Given the description of an element on the screen output the (x, y) to click on. 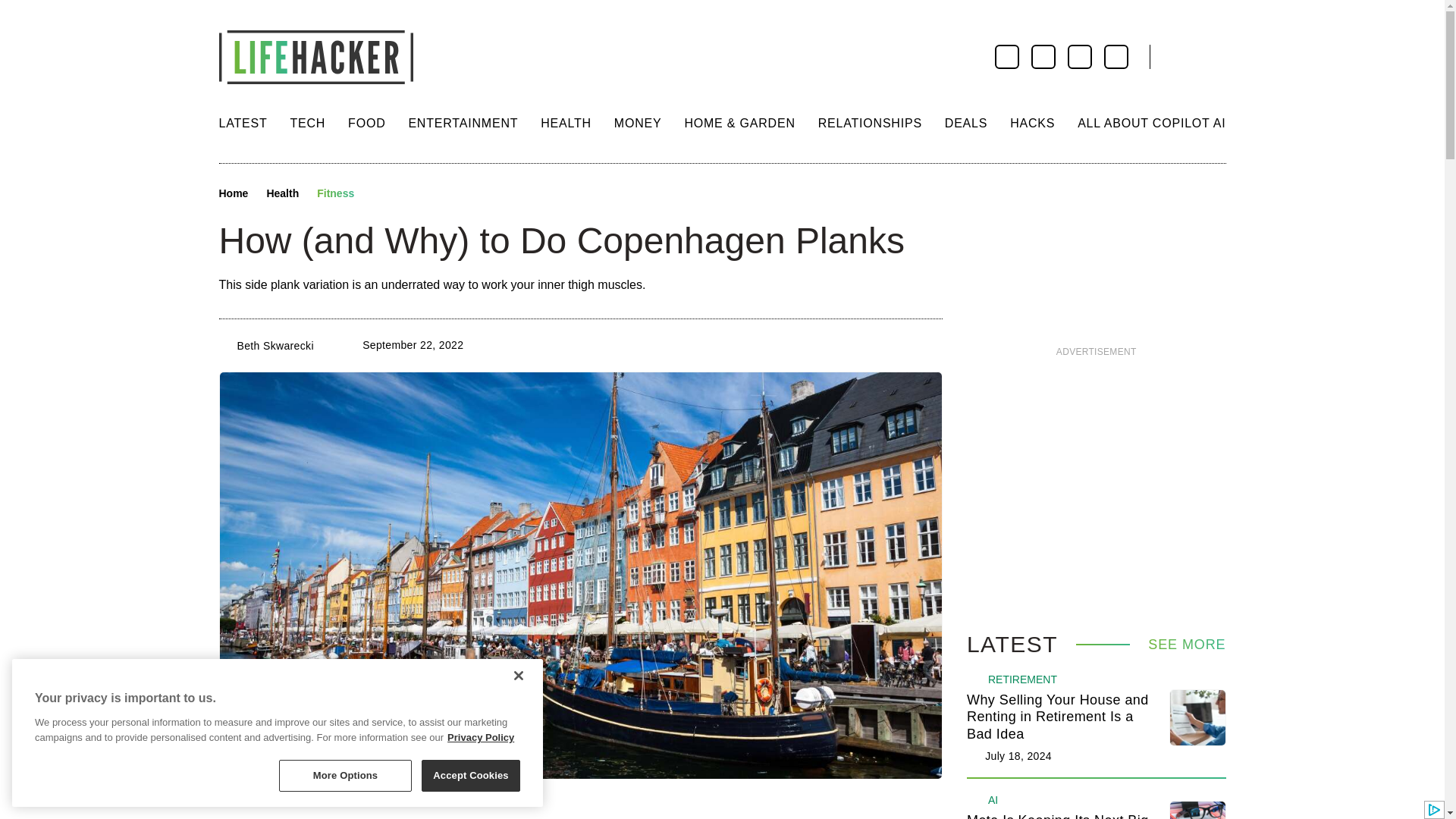
Home (232, 193)
RELATIONSHIPS (869, 123)
DEALS (965, 123)
Social Share (379, 193)
TECH (306, 123)
ALL ABOUT COPILOT AI (1151, 123)
Fitness (335, 193)
MONEY (638, 123)
Health (282, 193)
LATEST (242, 123)
HEALTH (565, 123)
FOOD (366, 123)
HACKS (1032, 123)
ENTERTAINMENT (462, 123)
